Given the description of an element on the screen output the (x, y) to click on. 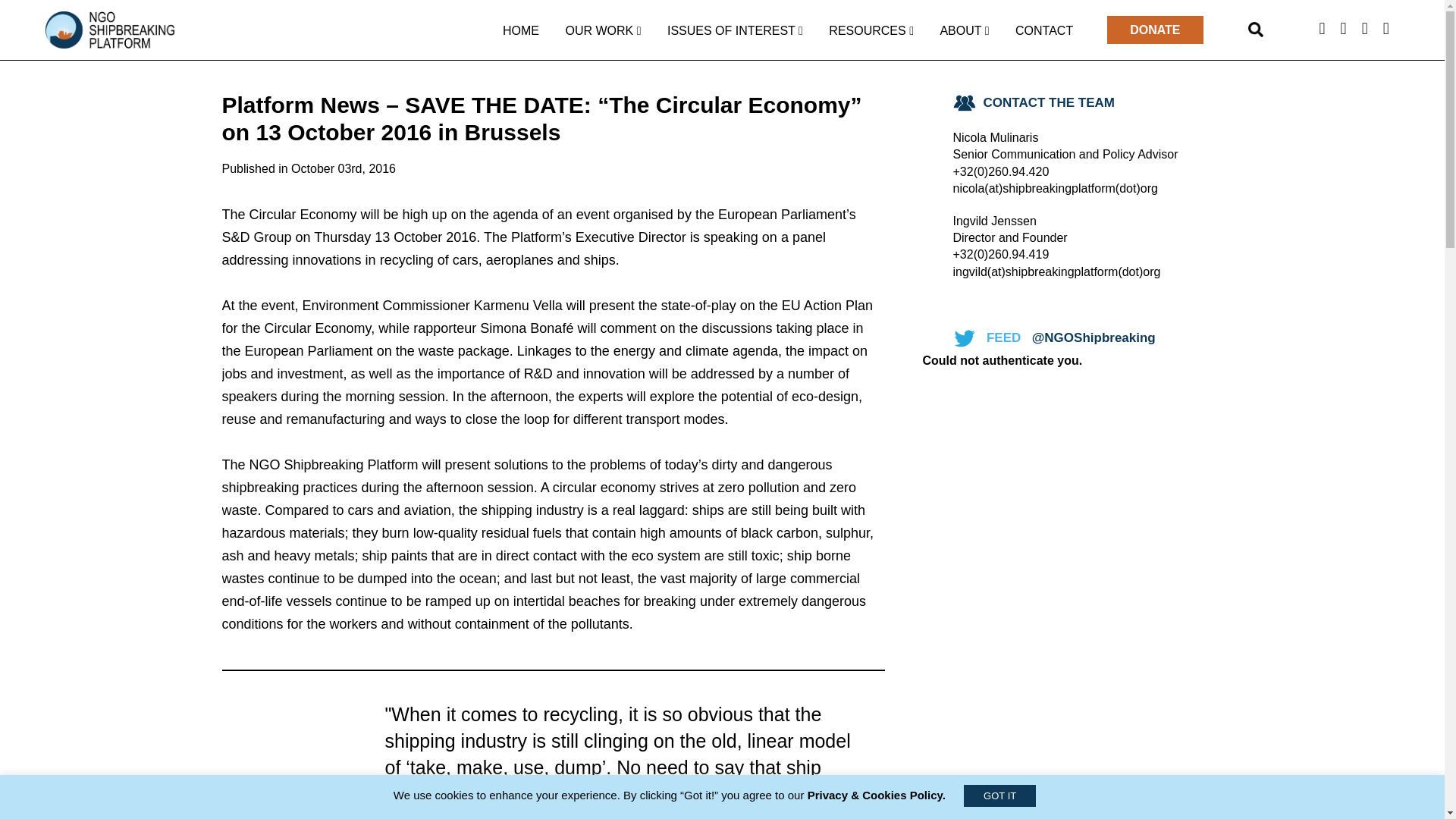
ISSUES OF INTEREST (734, 29)
CONTACT (1043, 29)
OUR WORK (602, 29)
RESOURCES (871, 29)
DONATE (1154, 29)
